Given the description of an element on the screen output the (x, y) to click on. 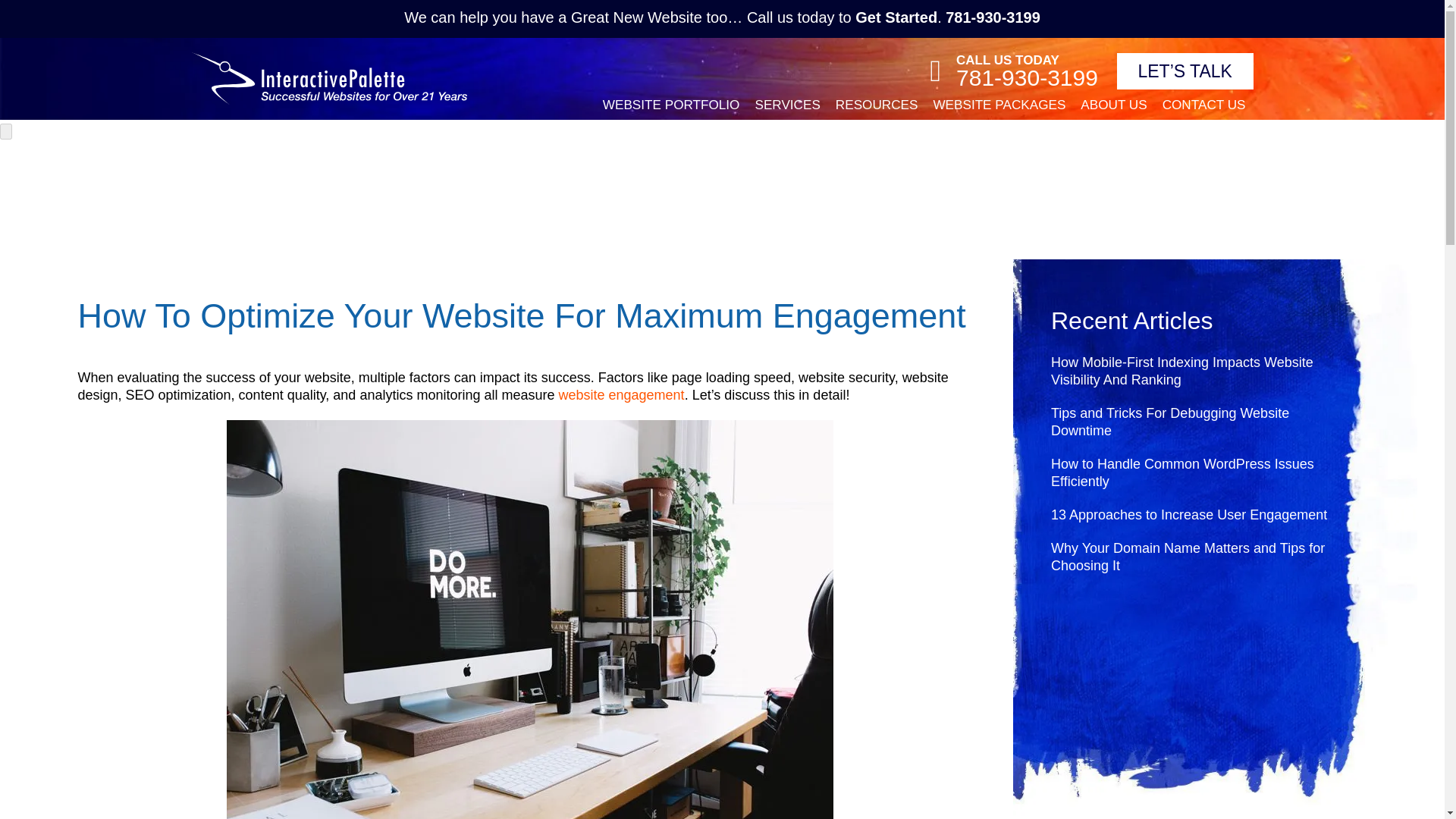
WEBSITE PORTFOLIO (671, 104)
Get Started (896, 17)
SERVICES (786, 104)
WEBSITE PACKAGES (998, 104)
Call 781-930-3199 (935, 71)
RESOURCES (877, 104)
781-930-3199 (1026, 77)
781-930-3199 (992, 17)
